Given the description of an element on the screen output the (x, y) to click on. 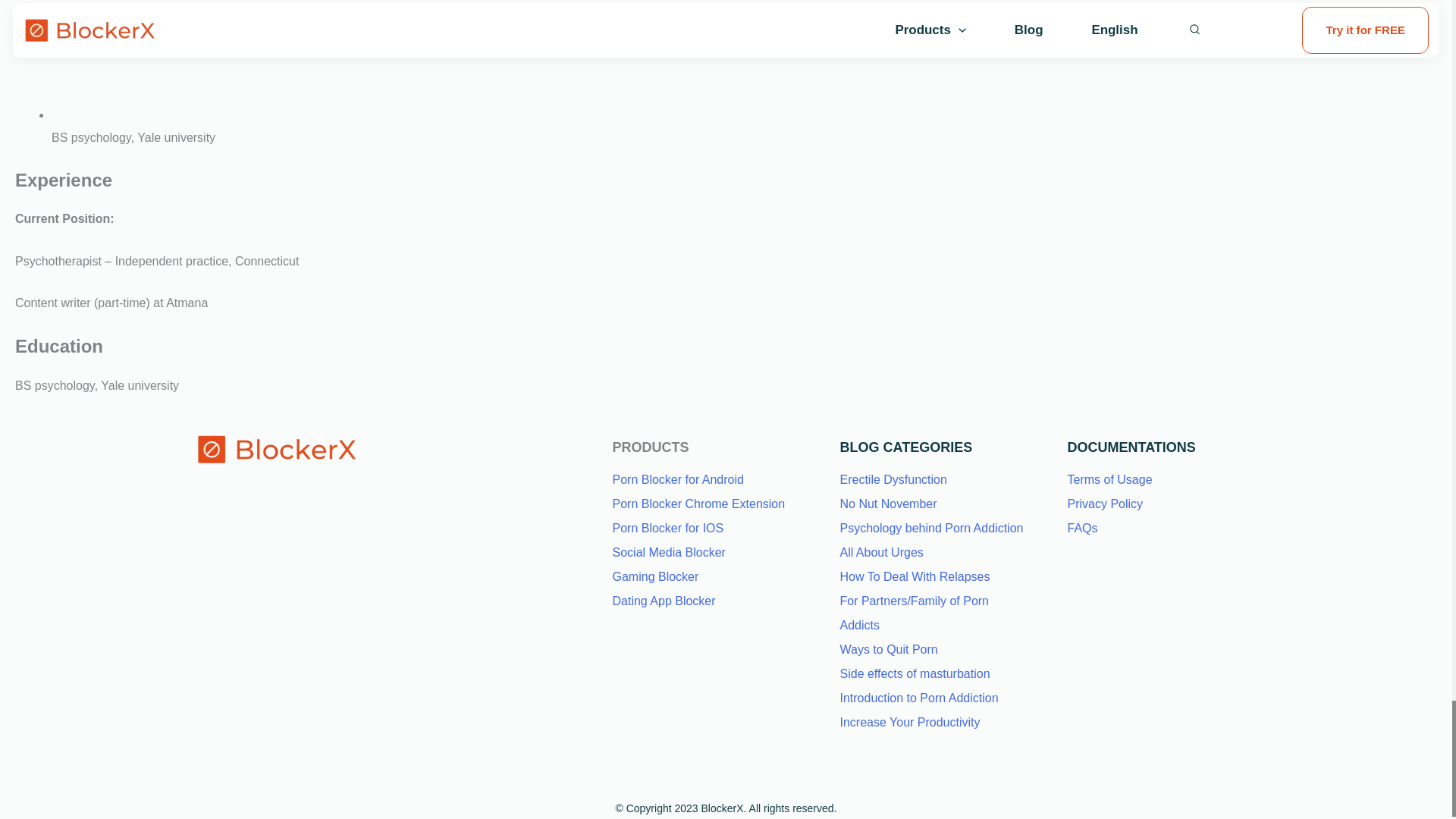
Porn Blocker Chrome Extension (699, 503)
Social Media Blocker (668, 552)
Porn Blocker for Android (678, 479)
Porn Blocker for IOS (667, 527)
Gaming Blocker (655, 576)
